Given the description of an element on the screen output the (x, y) to click on. 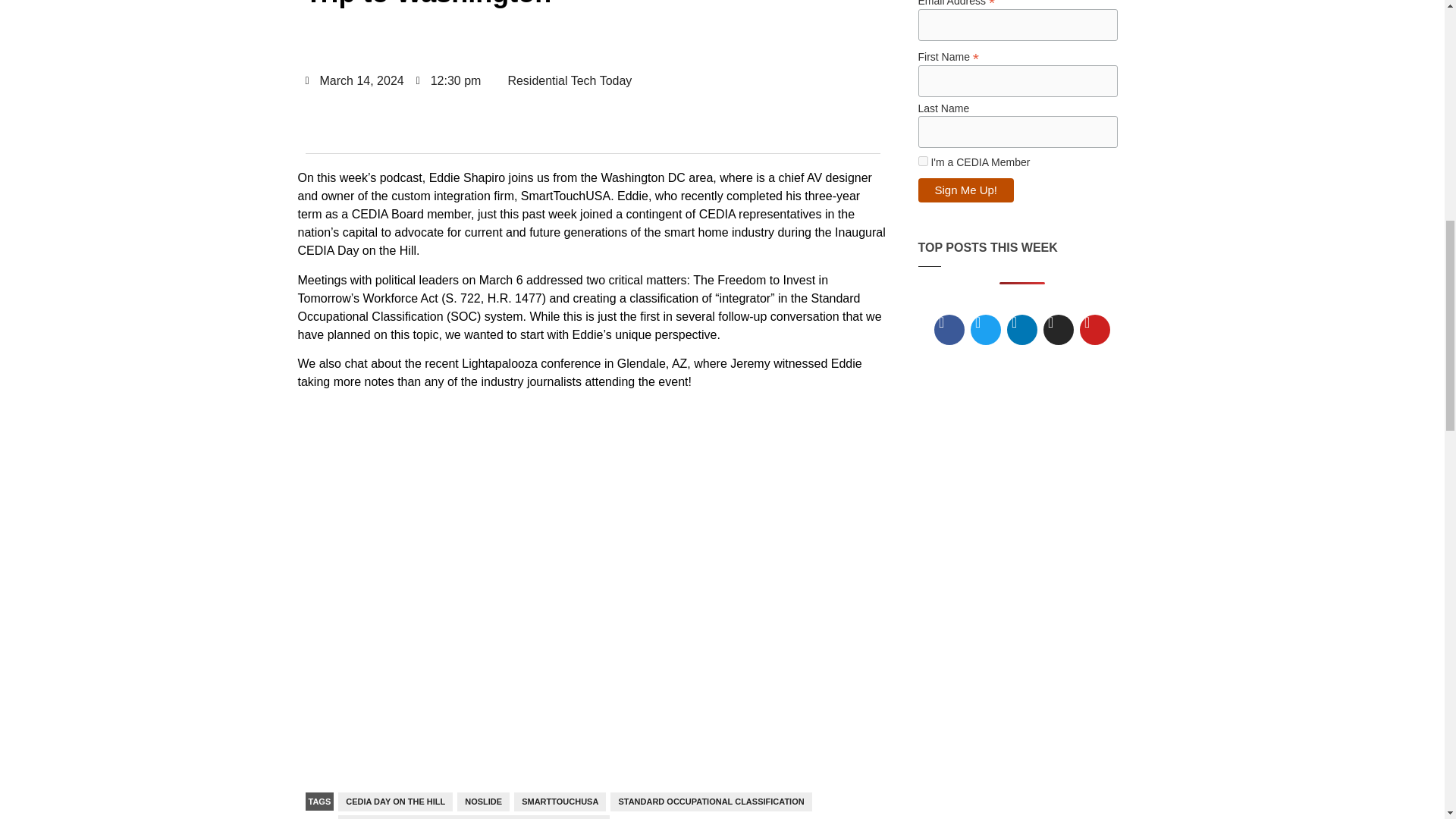
Residential Tech Today (562, 81)
Sign Me Up! (965, 190)
March 14, 2024 (353, 81)
e11e2e2e8f (922, 161)
SMARTTOUCHUSA (559, 801)
CEDIA DAY ON THE HILL (394, 801)
NOSLIDE (483, 801)
